Given the description of an element on the screen output the (x, y) to click on. 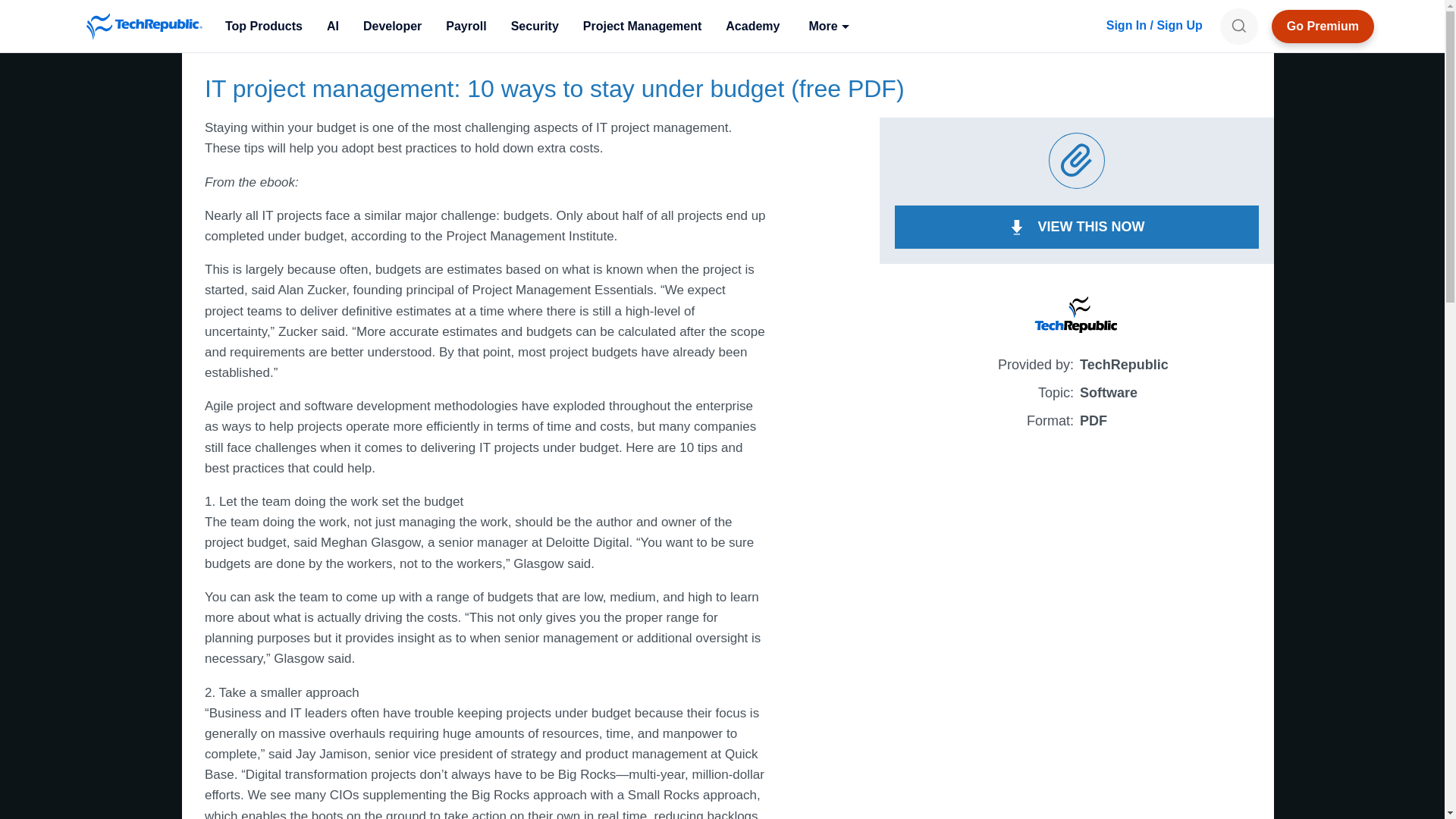
Developer (392, 26)
TechRepublic (143, 25)
TechRepublic (143, 25)
Academy (752, 26)
TechRepublic (143, 25)
Project Management (641, 26)
Security (534, 26)
Payroll (465, 26)
Top Products (263, 26)
TechRepublic Premium (1322, 25)
VIEW THIS NOW (1077, 226)
Go Premium (1322, 25)
